Given the description of an element on the screen output the (x, y) to click on. 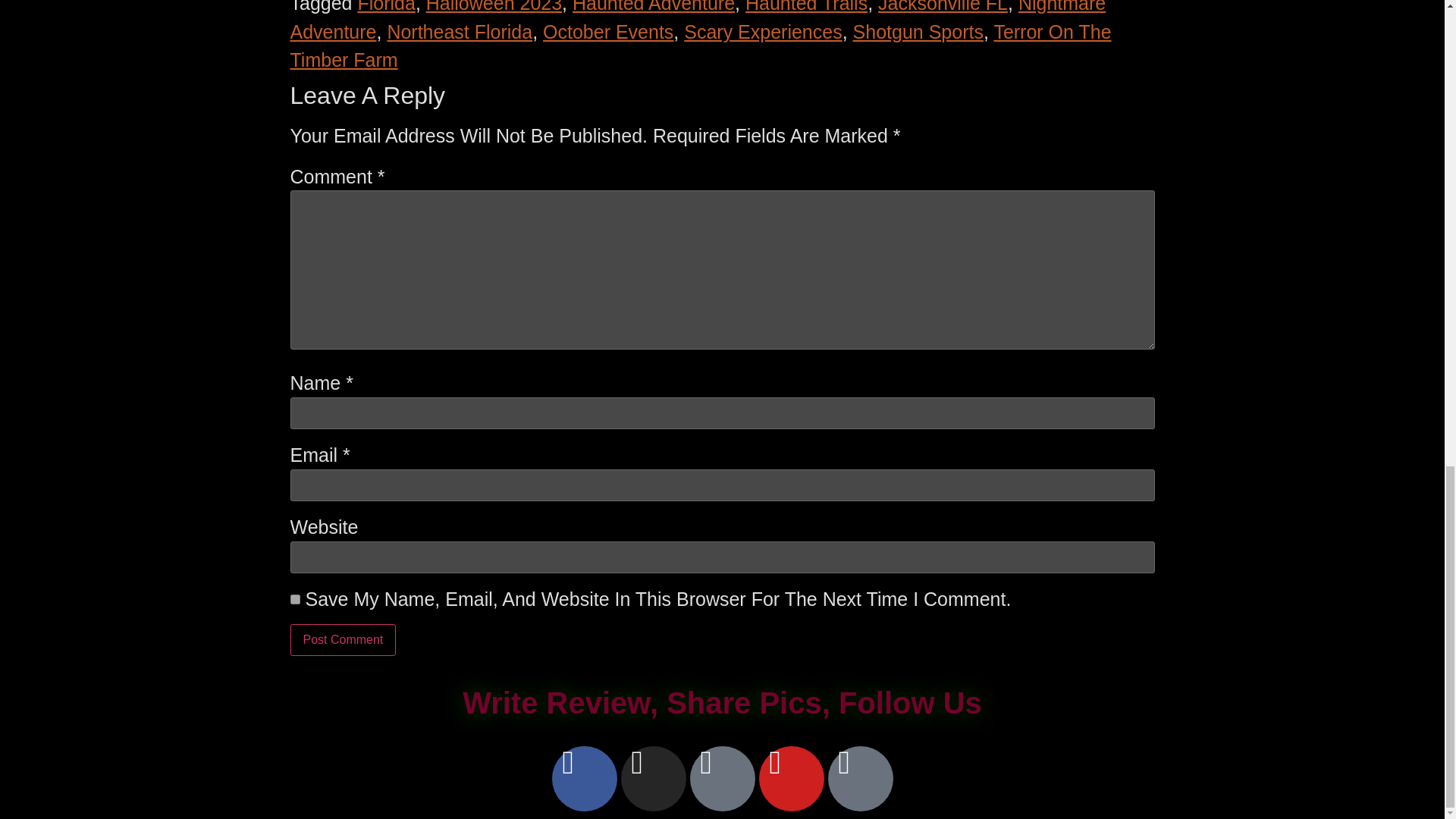
yes (294, 599)
Terror On The Timber Farm (699, 46)
Halloween 2023 (494, 6)
Post Comment (342, 640)
Post Comment (342, 640)
Shotgun Sports (918, 31)
Haunted Adventure (653, 6)
Scary Experiences (762, 31)
Florida (385, 6)
October Events (607, 31)
